Given the description of an element on the screen output the (x, y) to click on. 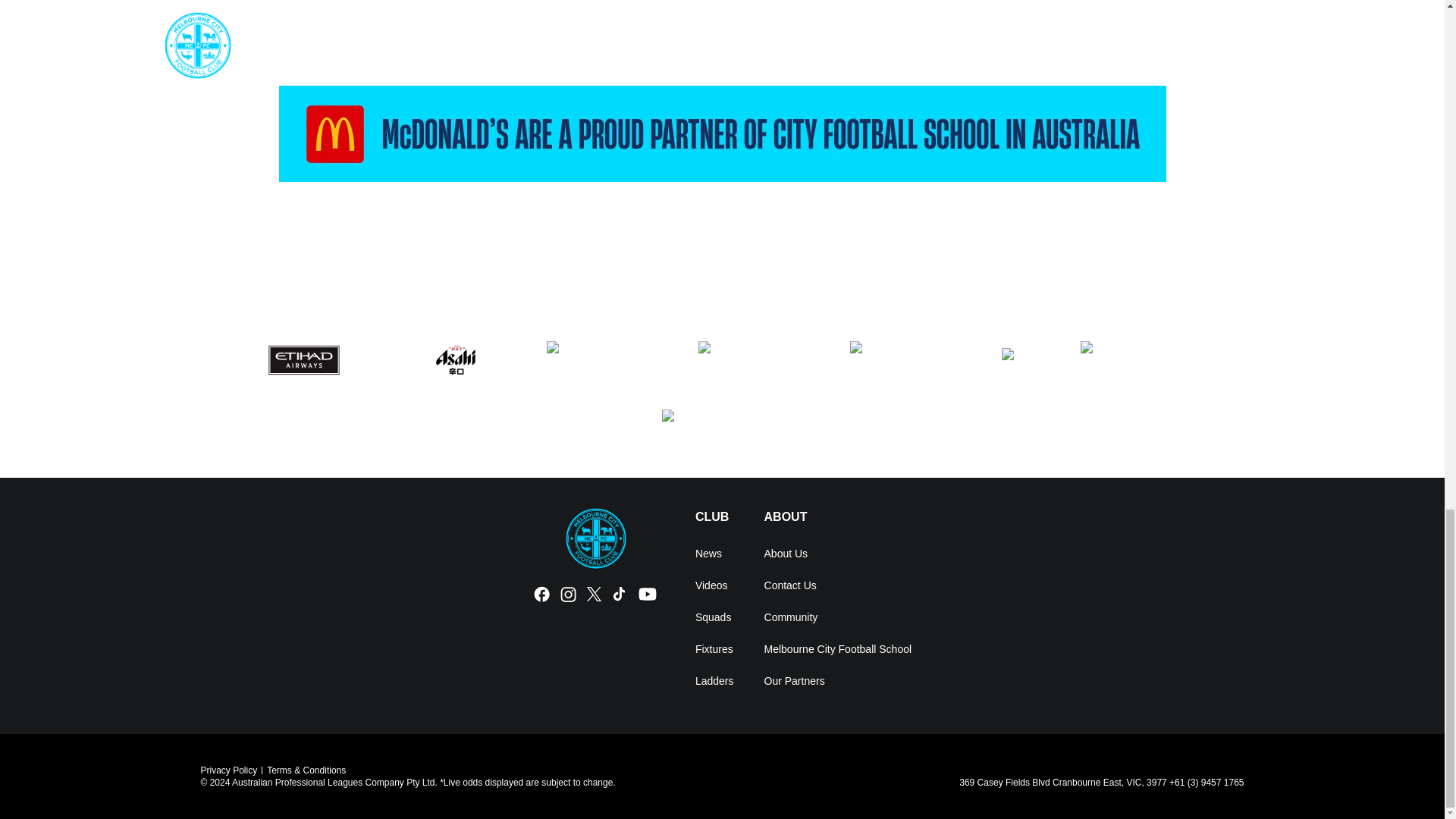
Origin (1140, 360)
Hostplus (606, 360)
Nostra (1025, 360)
Etihad Airways (303, 360)
Asahi Super Dry (454, 360)
PUMA (722, 428)
Nissan (909, 360)
